Given the description of an element on the screen output the (x, y) to click on. 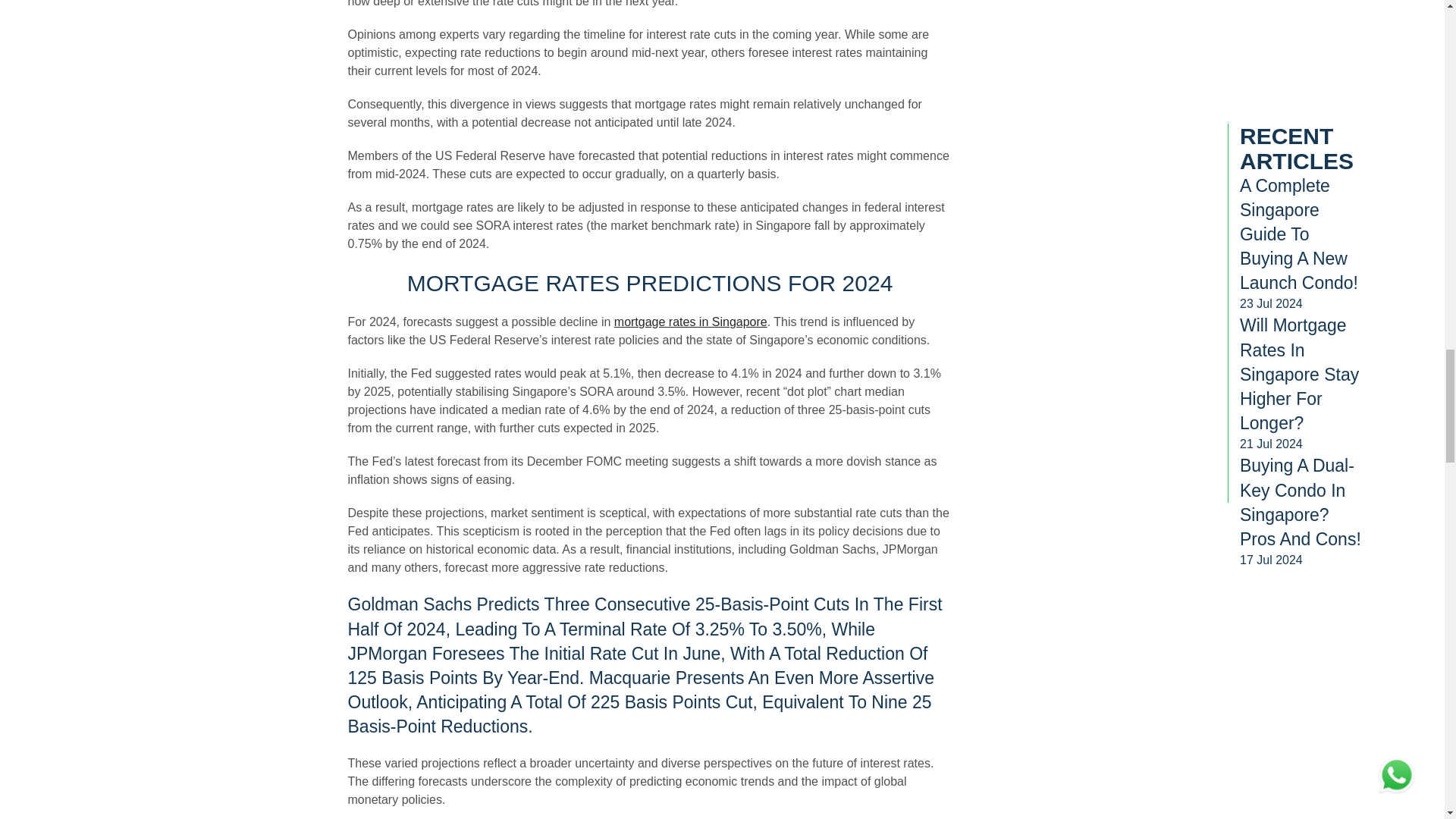
mortgage rates in Singapore (690, 321)
